Given the description of an element on the screen output the (x, y) to click on. 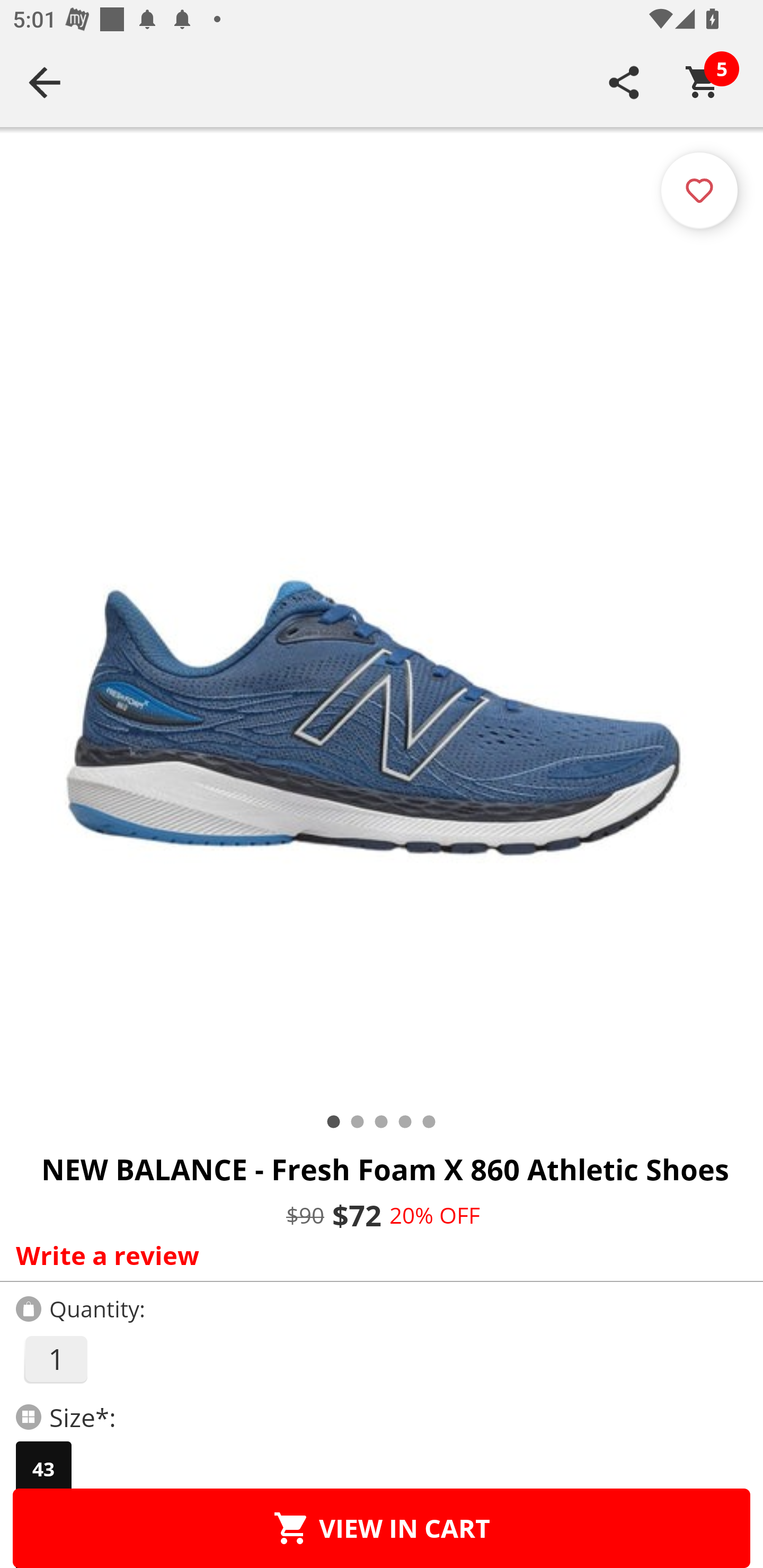
Navigate up (44, 82)
SHARE (623, 82)
Cart (703, 81)
Write a review (377, 1255)
1 (55, 1358)
43 (43, 1468)
VIEW IN CART (381, 1528)
